Given the description of an element on the screen output the (x, y) to click on. 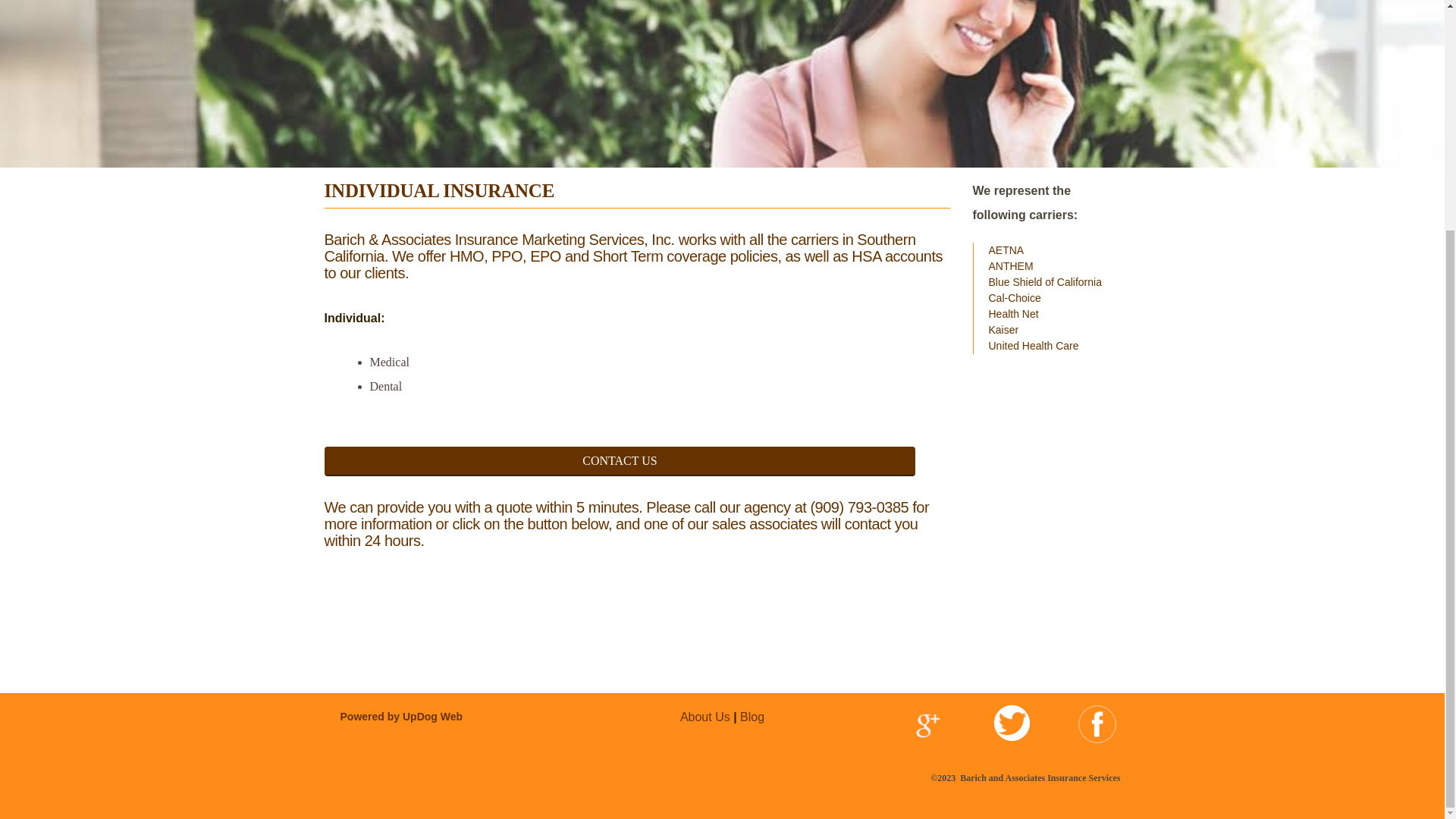
CONTACT US (619, 460)
About Us (704, 716)
Powered by UpDog Web (401, 715)
Blog (751, 716)
